Given the description of an element on the screen output the (x, y) to click on. 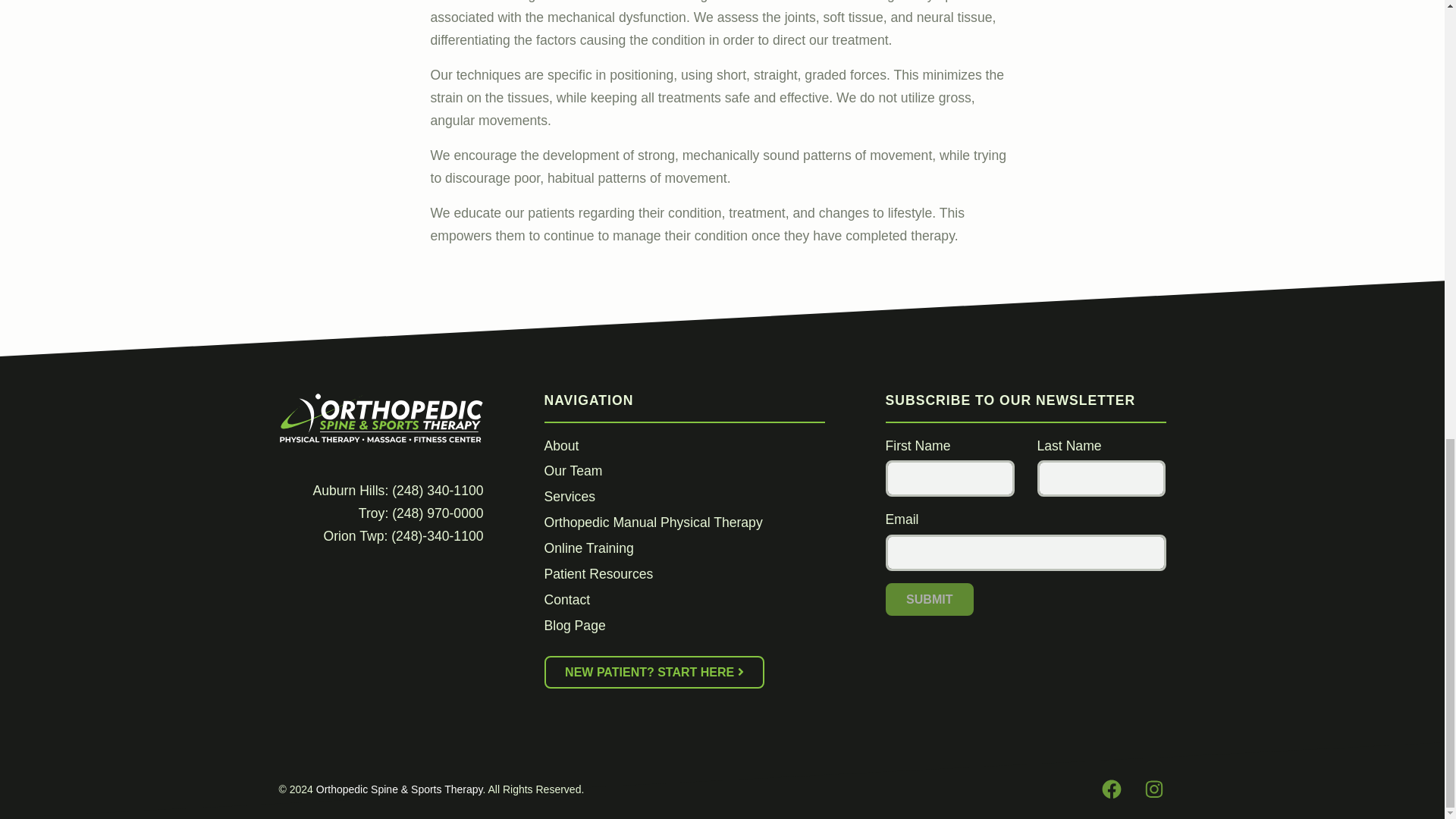
Orthopedic Manual Physical Therapy (653, 522)
Blog Page (574, 625)
NEW PATIENT? START HERE (654, 672)
SUBMIT (929, 599)
Our Team (573, 470)
Patient Resources (598, 573)
Online Training (588, 548)
About (561, 445)
Contact (567, 599)
Services (569, 496)
